Given the description of an element on the screen output the (x, y) to click on. 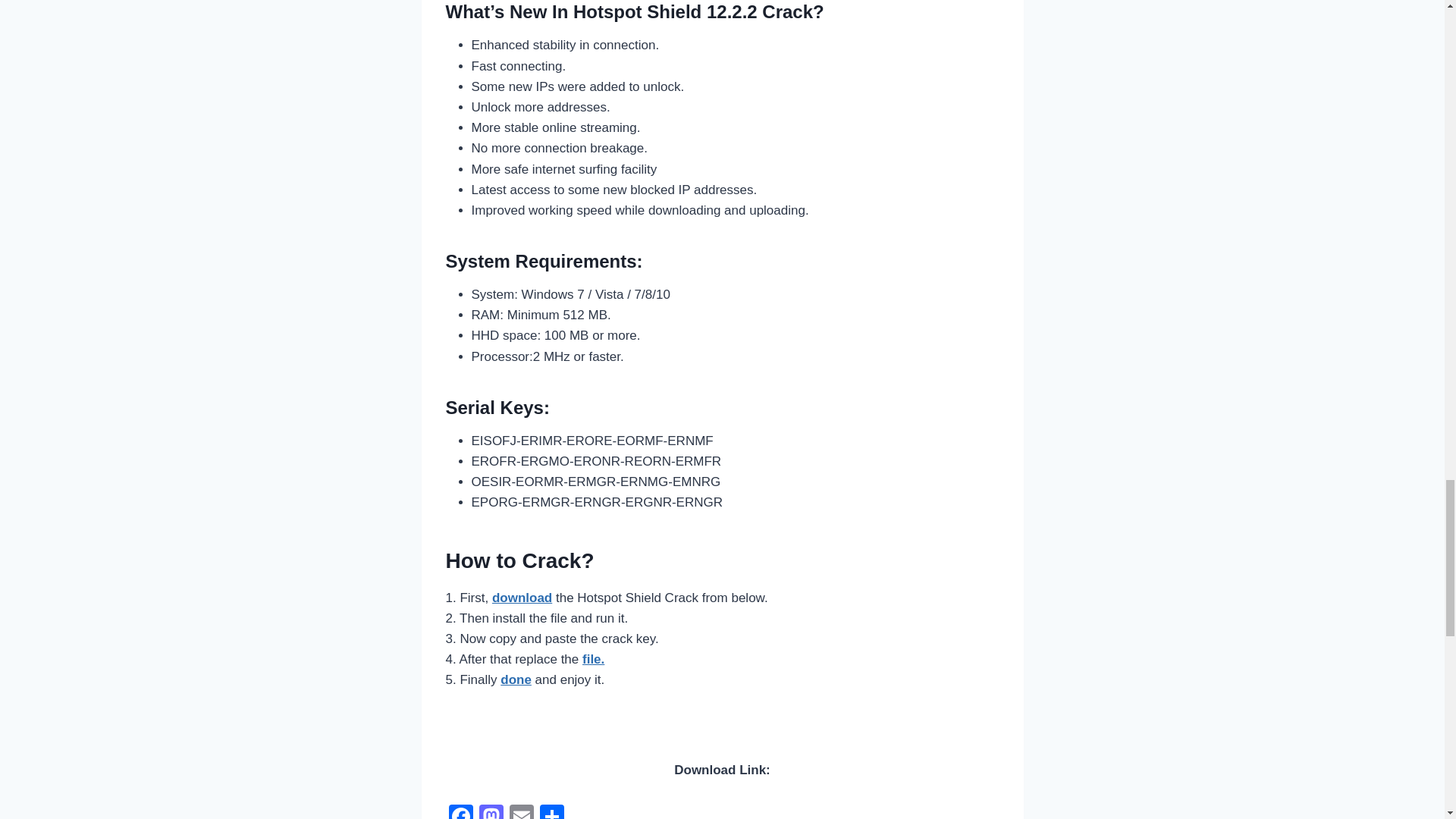
Facebook (460, 811)
Mastodon (491, 811)
Facebook (460, 811)
Email (521, 811)
download (521, 597)
file. (593, 658)
done (515, 679)
Email (521, 811)
Mastodon (491, 811)
